Given the description of an element on the screen output the (x, y) to click on. 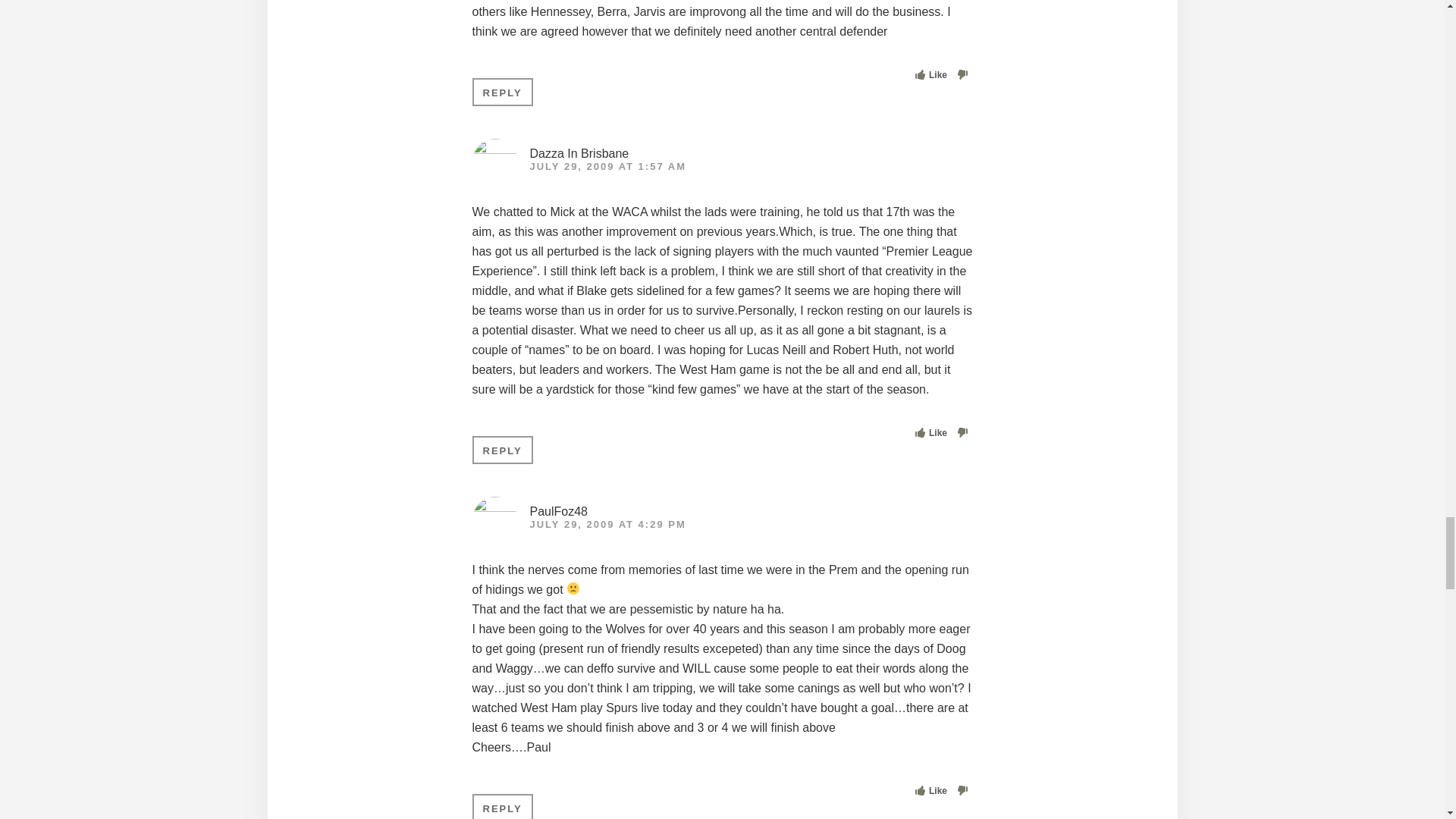
REPLY (501, 449)
JULY 29, 2009 AT 1:57 AM (607, 165)
JULY 29, 2009 AT 4:29 PM (607, 523)
REPLY (501, 806)
REPLY (501, 91)
